Given the description of an element on the screen output the (x, y) to click on. 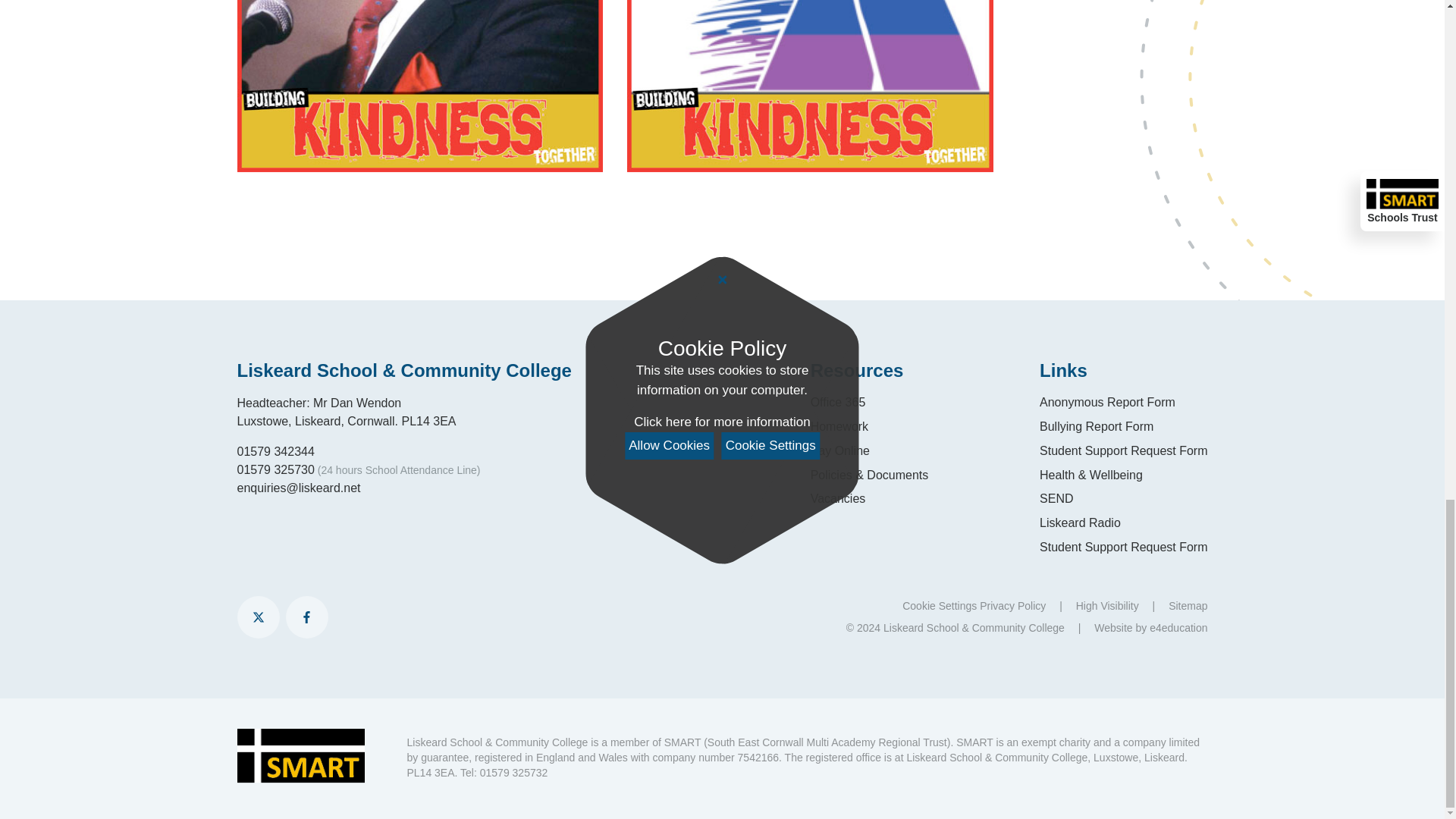
Cookie Settings (939, 605)
